Given the description of an element on the screen output the (x, y) to click on. 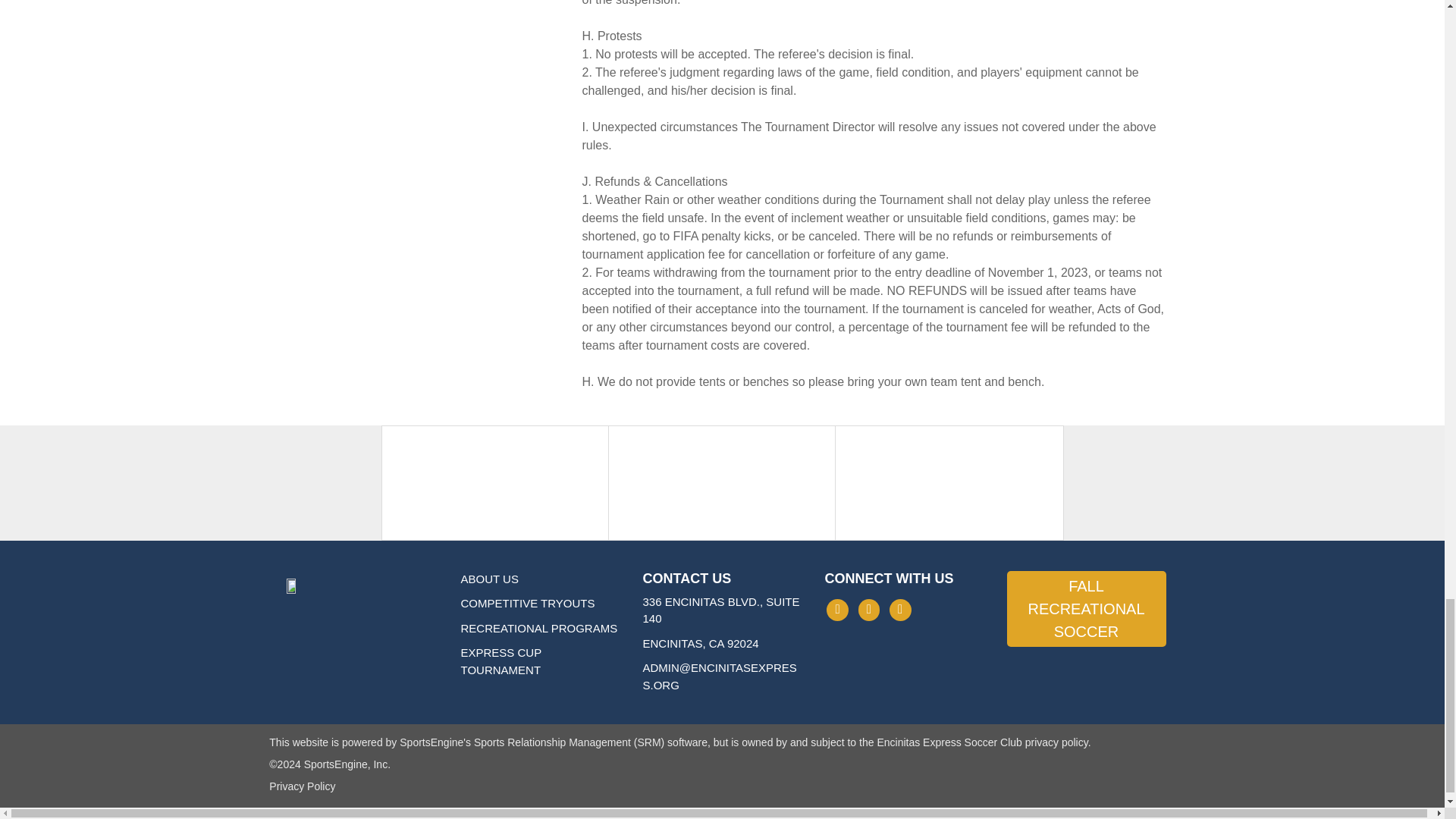
Facebook (837, 609)
FALL RECREATIONAL SOCCER (1086, 608)
ABOUT US (489, 577)
EXPRESS CUP TOURNAMENT (501, 661)
RECREATIONAL PROGRAMS (539, 627)
Instagram (869, 609)
COMPETITIVE TRYOUTS (528, 603)
